Given the description of an element on the screen output the (x, y) to click on. 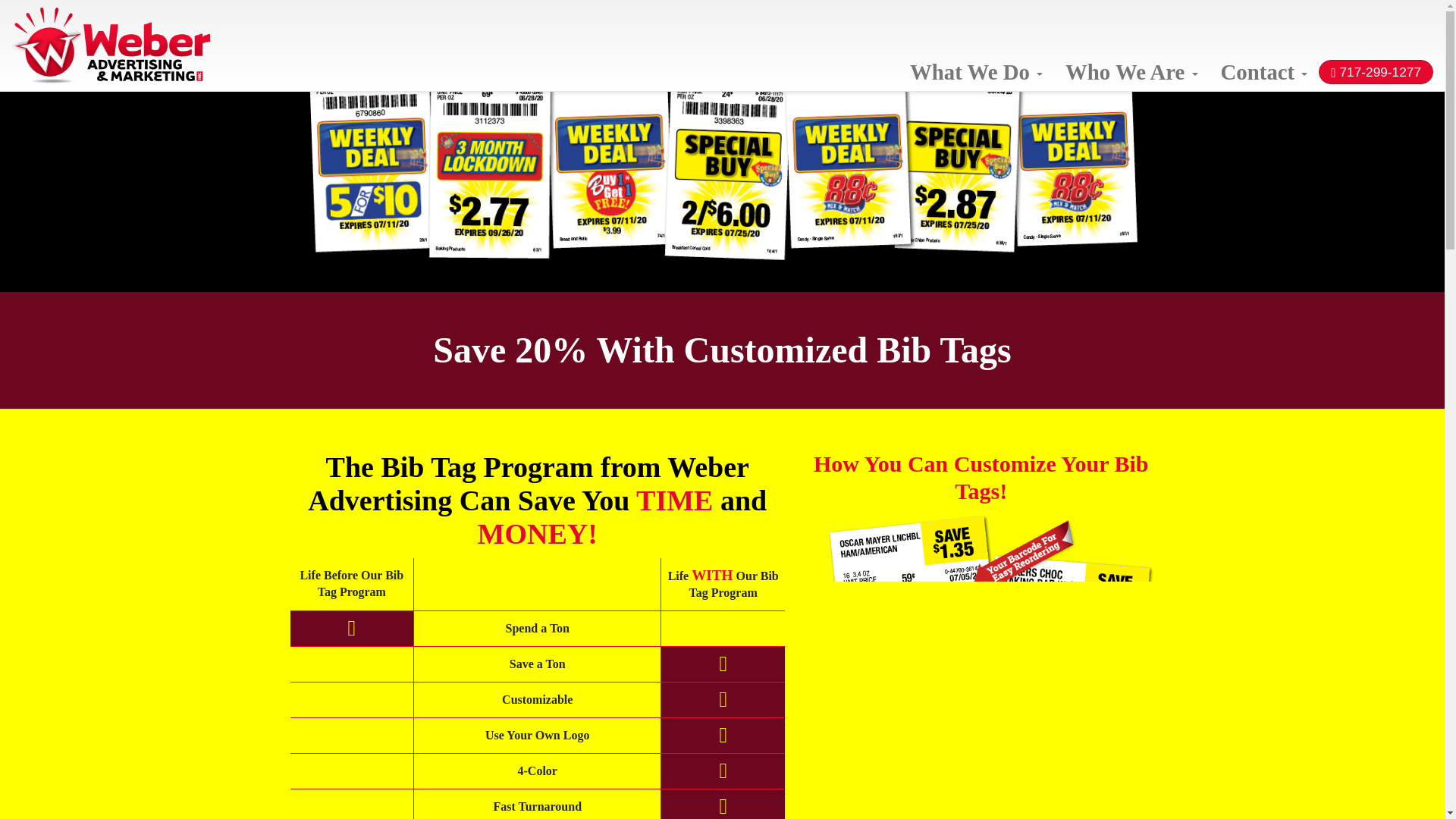
Contact (1264, 71)
717-299-1277 (1375, 71)
What We Do (976, 71)
Who We Are (1131, 71)
